Given the description of an element on the screen output the (x, y) to click on. 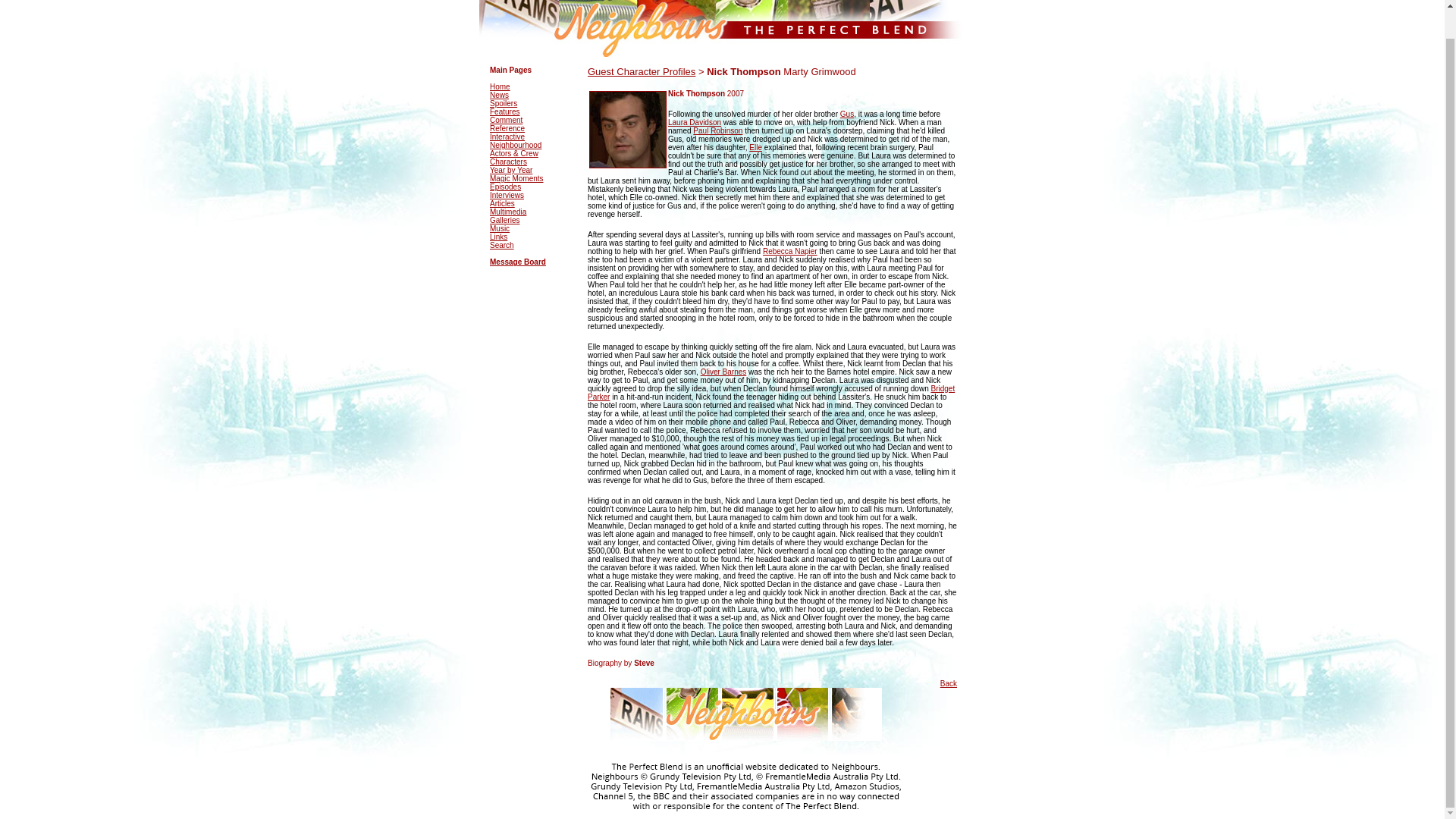
Interactive (506, 136)
Home (500, 86)
Back (948, 683)
Laura Davidson (694, 121)
Rebecca Napier (789, 251)
Search (501, 244)
Comment (505, 120)
Spoilers (502, 103)
News (498, 94)
Multimedia (507, 212)
Galleries (504, 220)
Oliver Barnes (723, 371)
Guest Character Profiles (641, 71)
Bridget Parker (771, 392)
Music (499, 228)
